Given the description of an element on the screen output the (x, y) to click on. 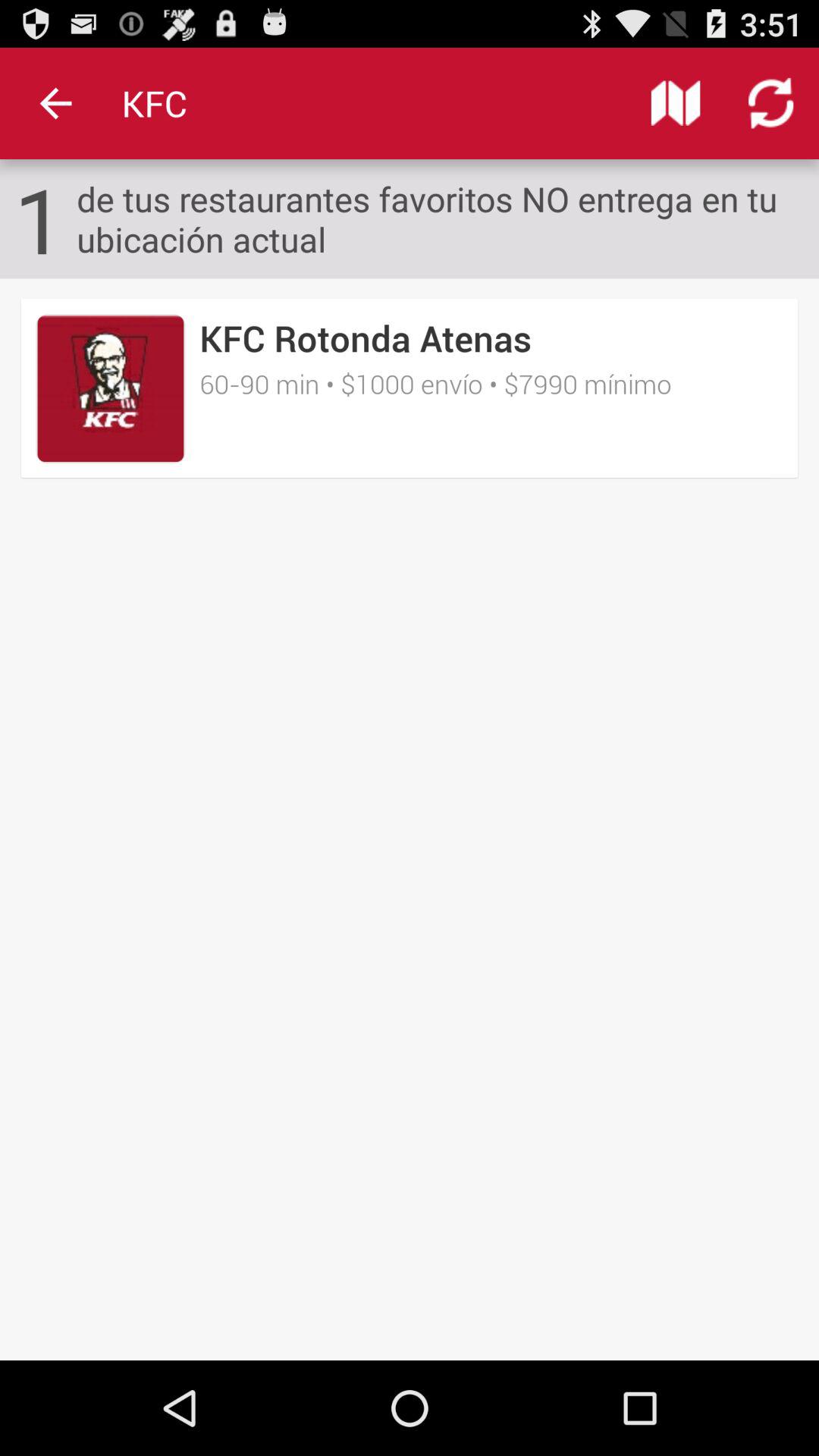
tap item next to kfc (55, 103)
